Given the description of an element on the screen output the (x, y) to click on. 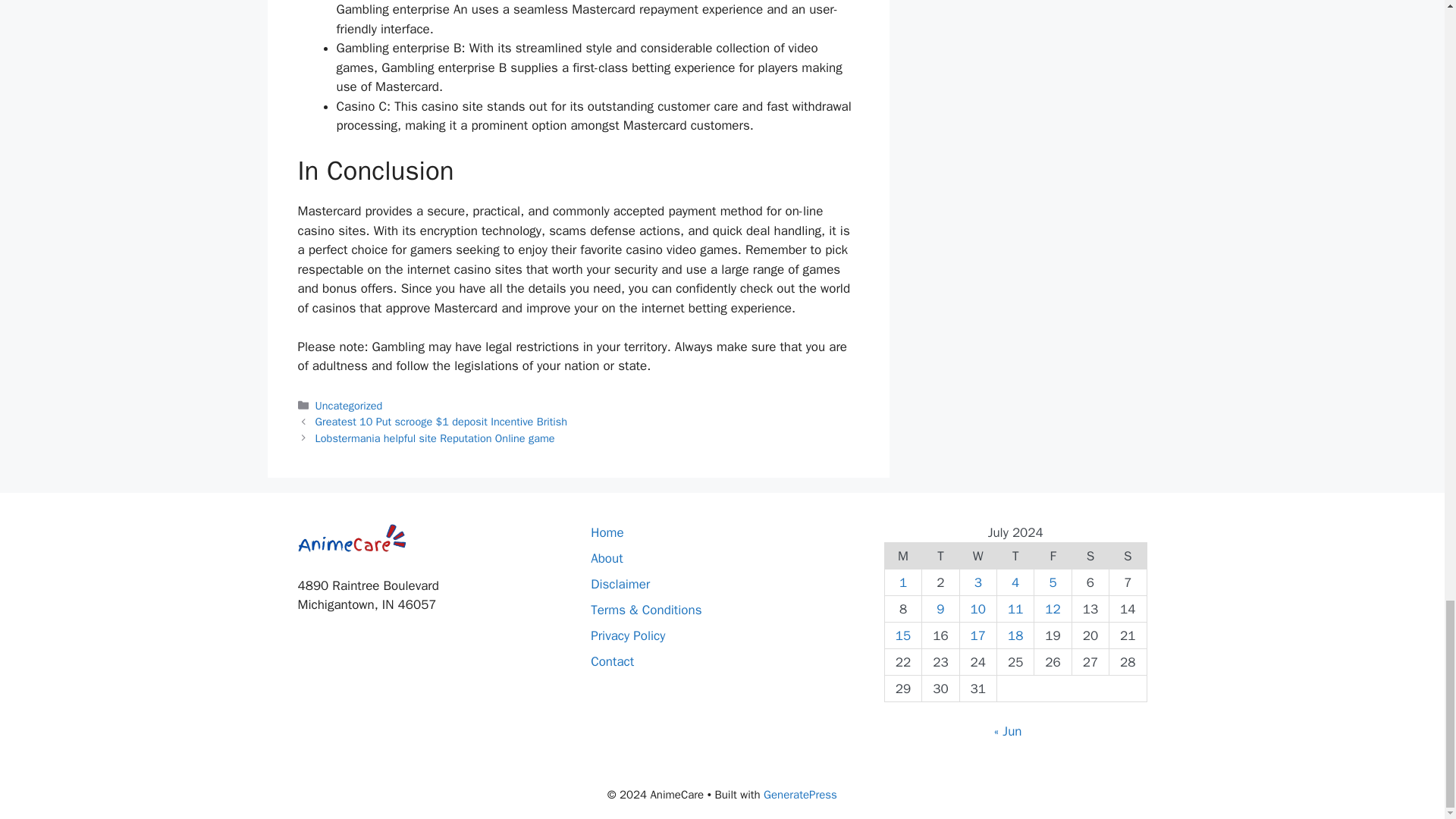
Tuesday (940, 555)
Lobstermania helpful site Reputation Online game (434, 438)
Uncategorized (348, 405)
Monday (902, 555)
Wednesday (977, 555)
